Given the description of an element on the screen output the (x, y) to click on. 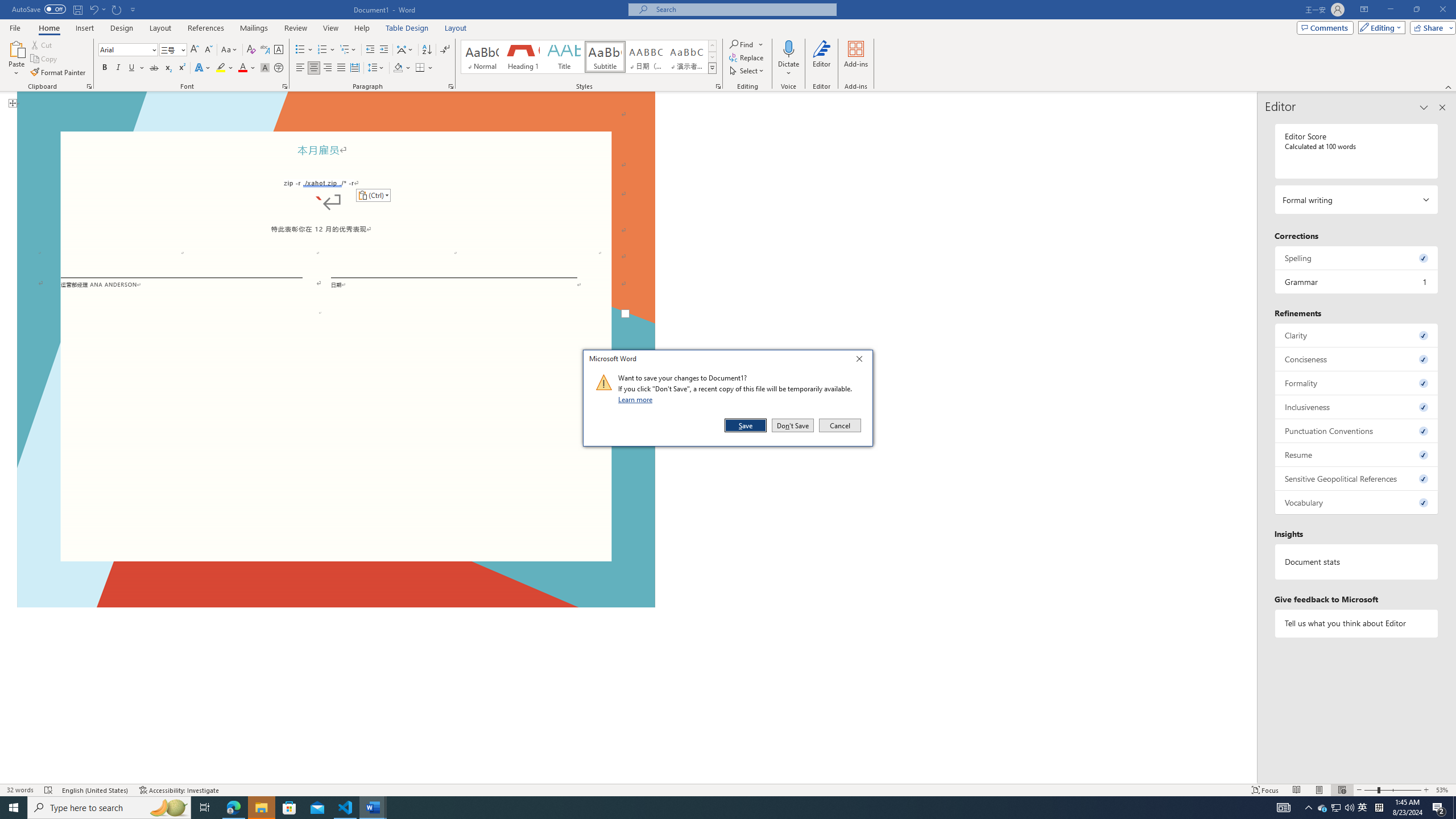
Shading (402, 67)
Character Border (278, 49)
Zoom (1392, 790)
Word Count 32 words (19, 790)
Underline (131, 67)
Font... (285, 85)
Don't Save (792, 425)
Row Down (711, 56)
Review (295, 28)
Visual Studio Code - 1 running window (345, 807)
